Given the description of an element on the screen output the (x, y) to click on. 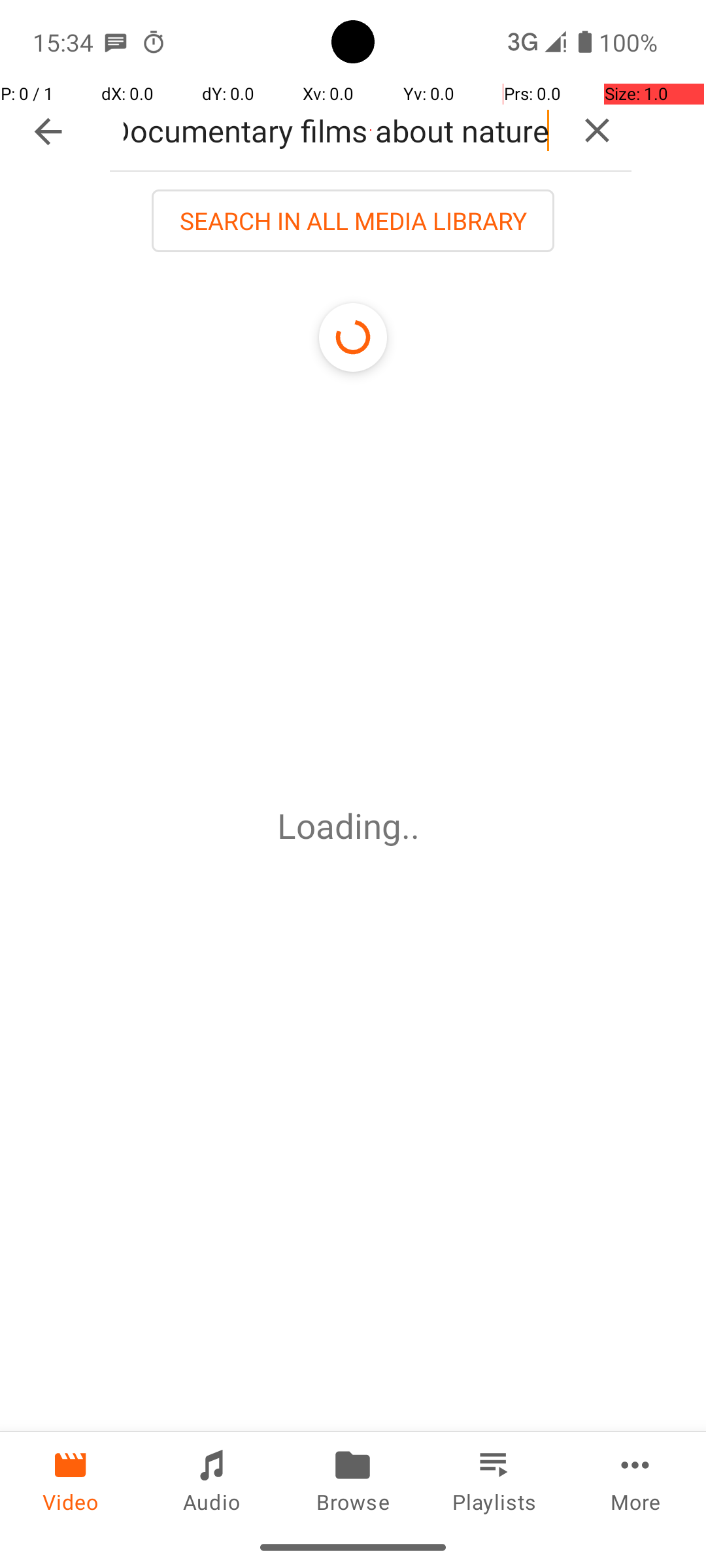
Documentary films about nature Element type: android.widget.AutoCompleteTextView (335, 130)
